Given the description of an element on the screen output the (x, y) to click on. 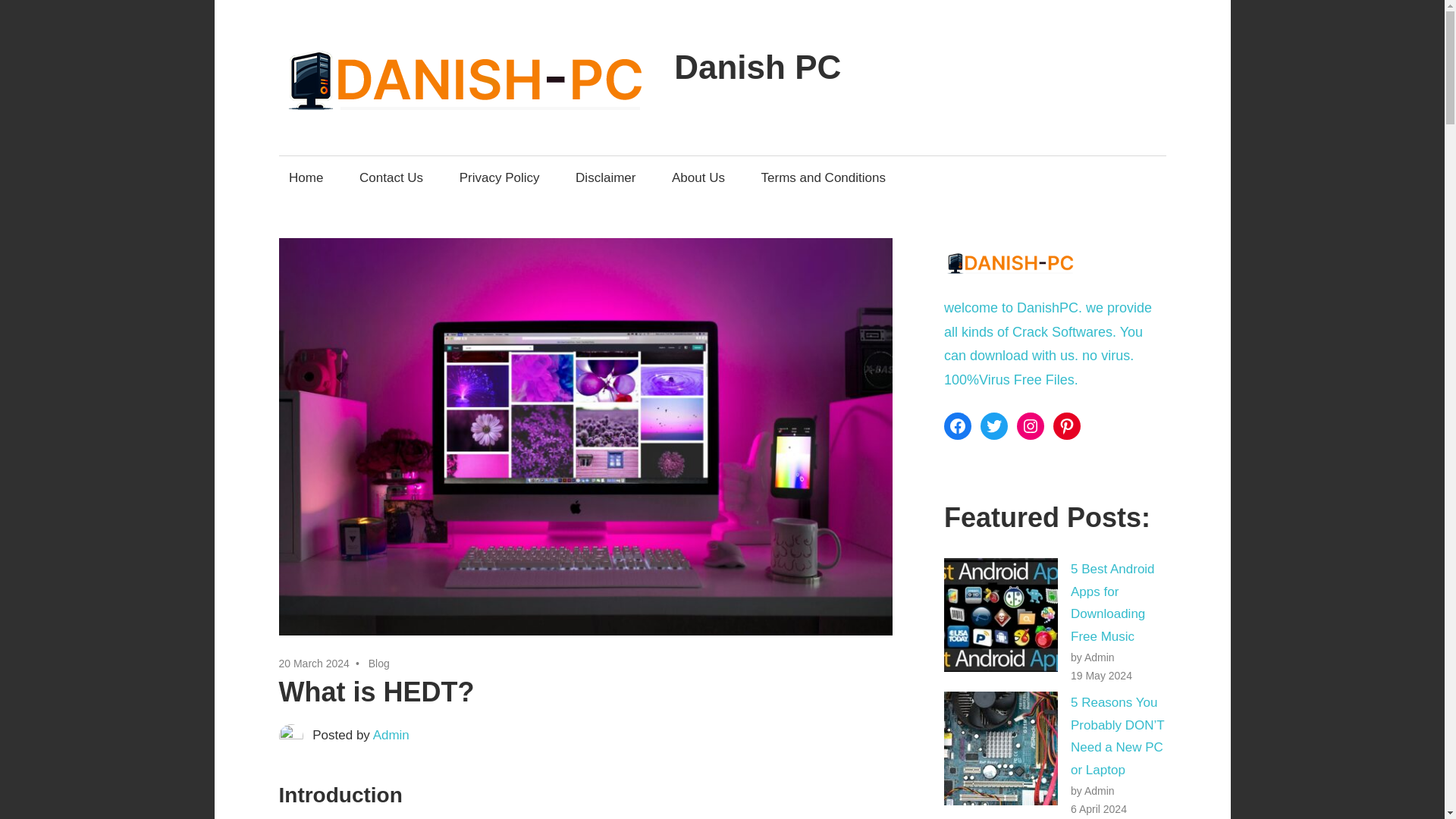
Disclaimer (606, 176)
Terms and Conditions (823, 176)
Facebook (957, 425)
Admin (390, 735)
Privacy Policy (499, 176)
Blog (379, 663)
Danish PC (757, 66)
View all posts by Admin (390, 735)
Pinteres (1066, 425)
08:39 (314, 663)
